Given the description of an element on the screen output the (x, y) to click on. 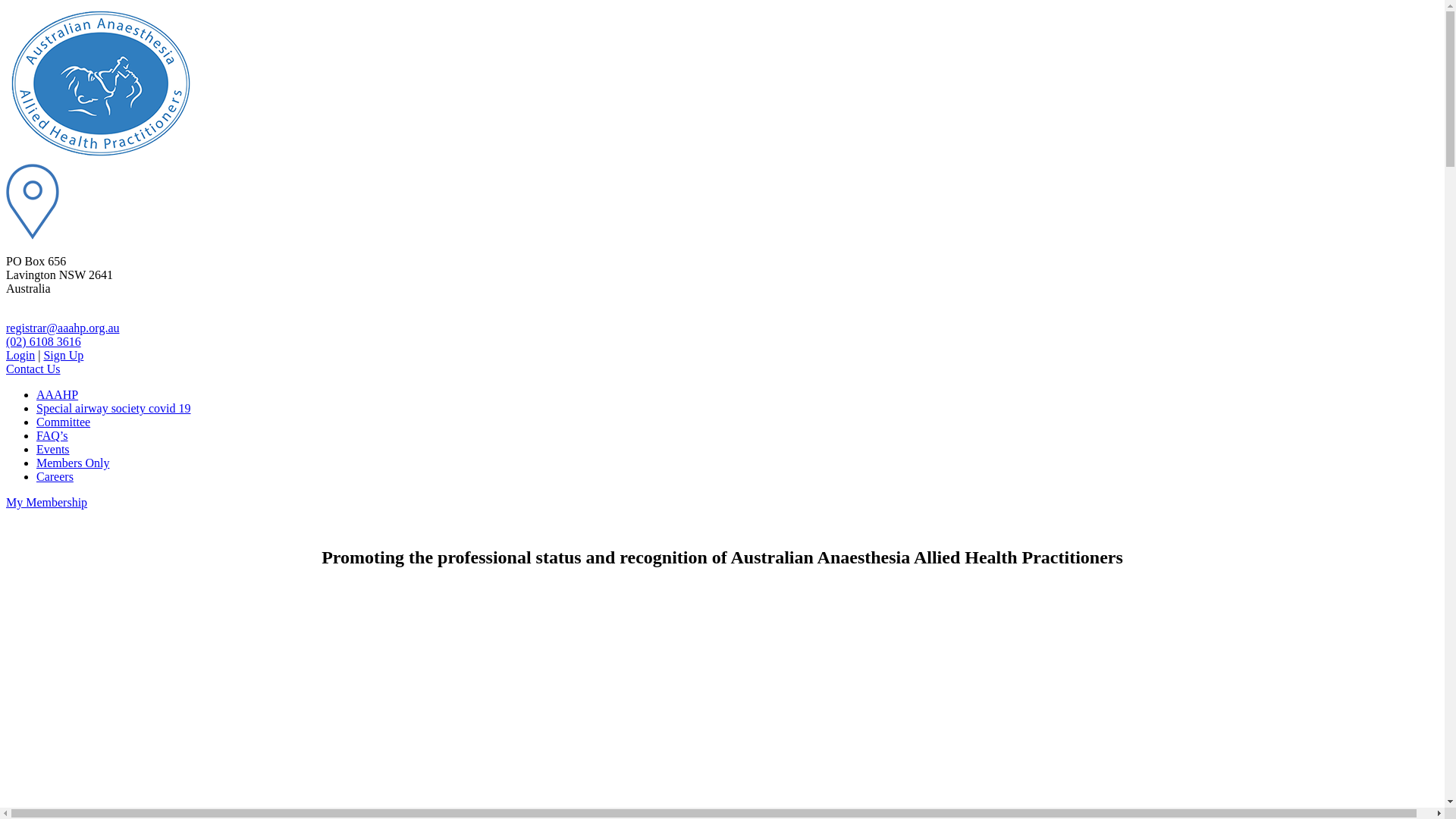
My Membership Element type: text (46, 501)
Careers Element type: text (54, 476)
Events Element type: text (52, 448)
(02) 6108 3616 Element type: text (43, 341)
registrar@aaahp.org.au Element type: text (62, 327)
Committee Element type: text (63, 421)
Members Only Element type: text (72, 462)
Login Element type: text (20, 354)
Contact Us Element type: text (33, 368)
Special airway society covid 19 Element type: text (113, 407)
Sign Up Element type: text (63, 354)
AAAHP Element type: text (57, 394)
